Given the description of an element on the screen output the (x, y) to click on. 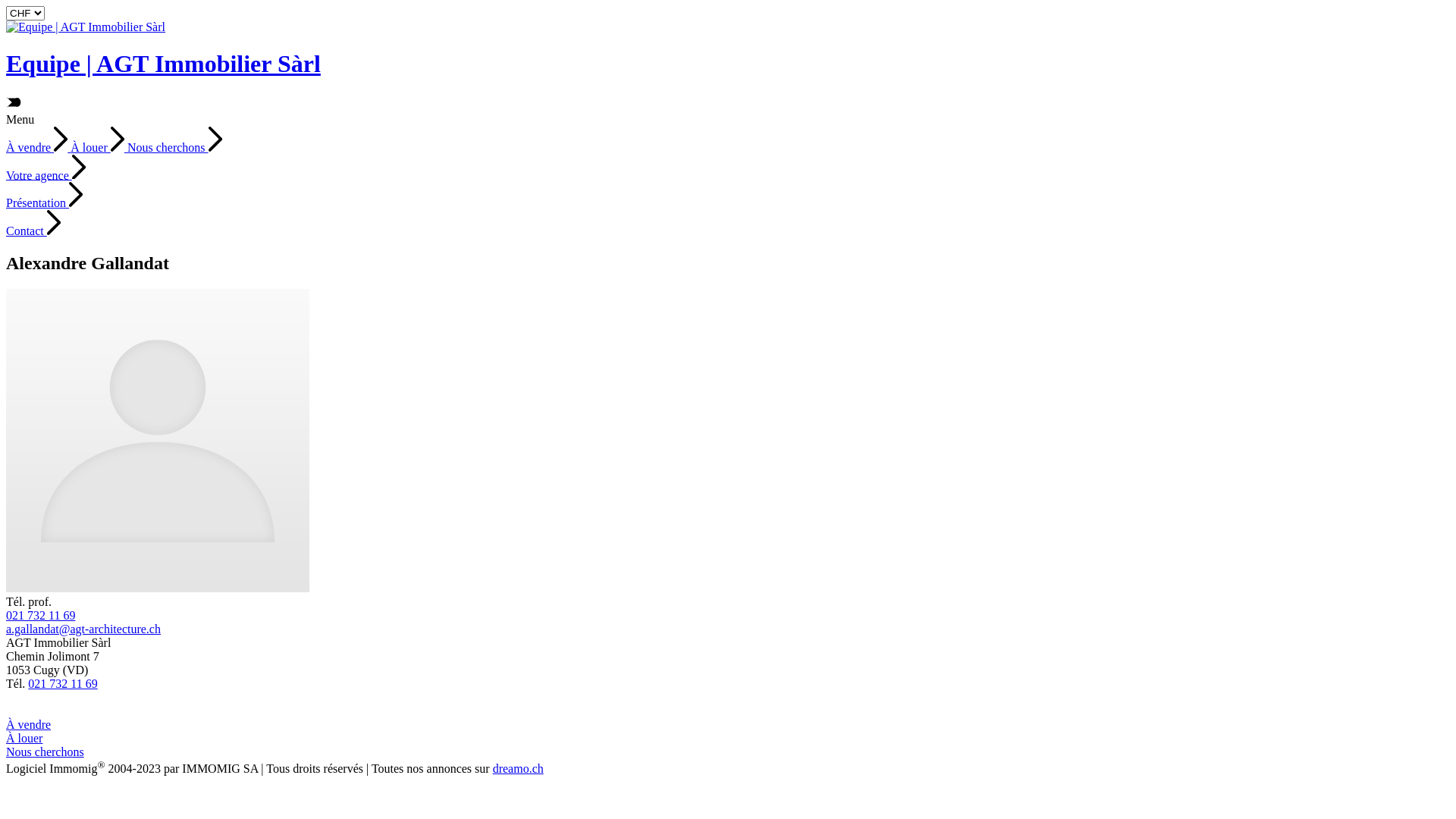
Nous cherchons Element type: text (45, 751)
a.gallandat@agt-architecture.ch Element type: text (83, 628)
Votre agence Element type: text (45, 174)
Contact Element type: text (33, 230)
021 732 11 69 Element type: text (62, 683)
Nous cherchons Element type: text (174, 147)
dreamo.ch Element type: text (517, 768)
021 732 11 69 Element type: text (40, 614)
